Given the description of an element on the screen output the (x, y) to click on. 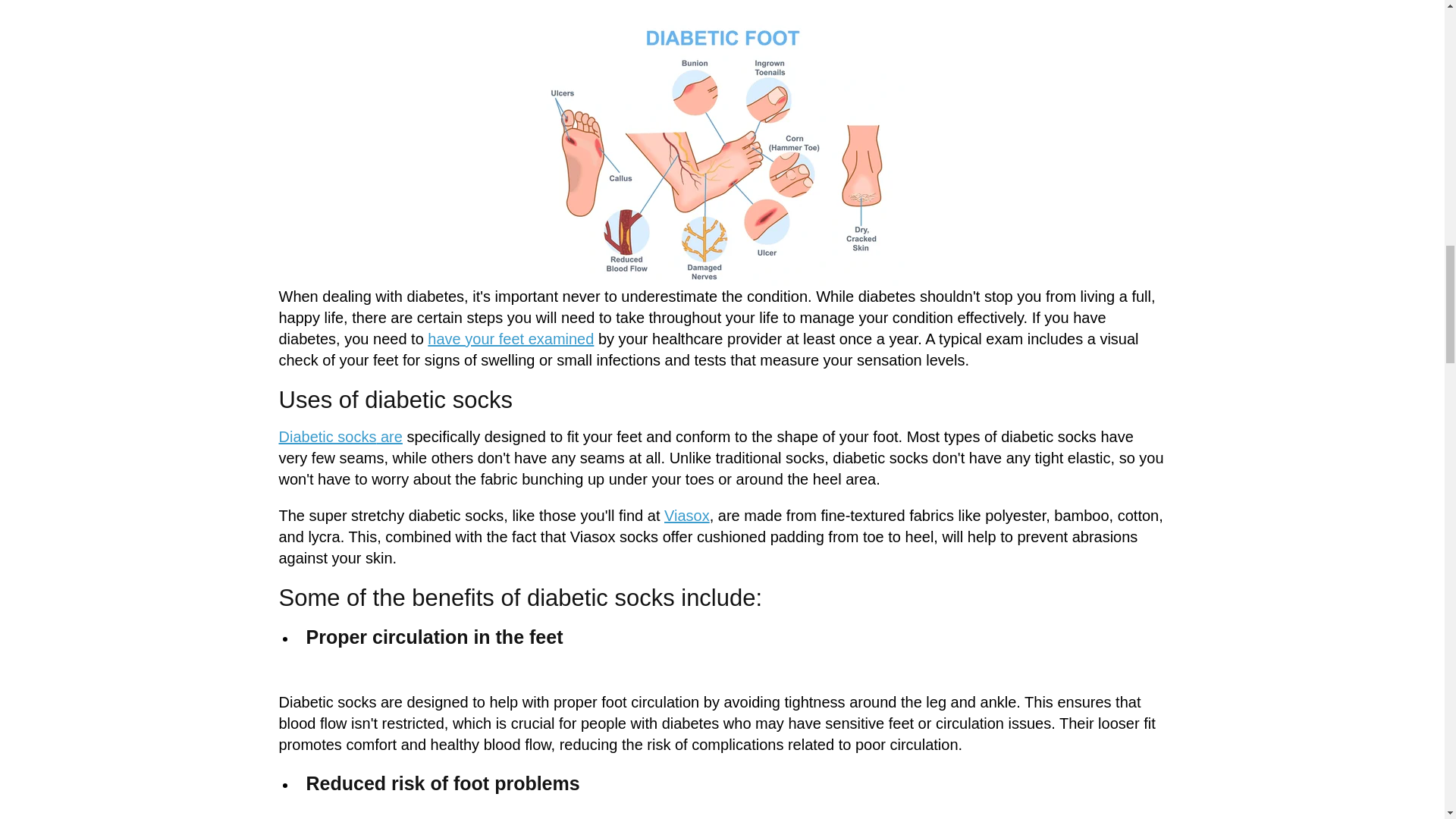
What are diabetic socks? (328, 436)
have your feet examined (511, 338)
Diabetes foot care tips (511, 338)
Viasox (686, 515)
Diabetic socks (328, 436)
What are diabetic socks? (388, 436)
Viasox diabetic socks (686, 515)
 are (388, 436)
